Given the description of an element on the screen output the (x, y) to click on. 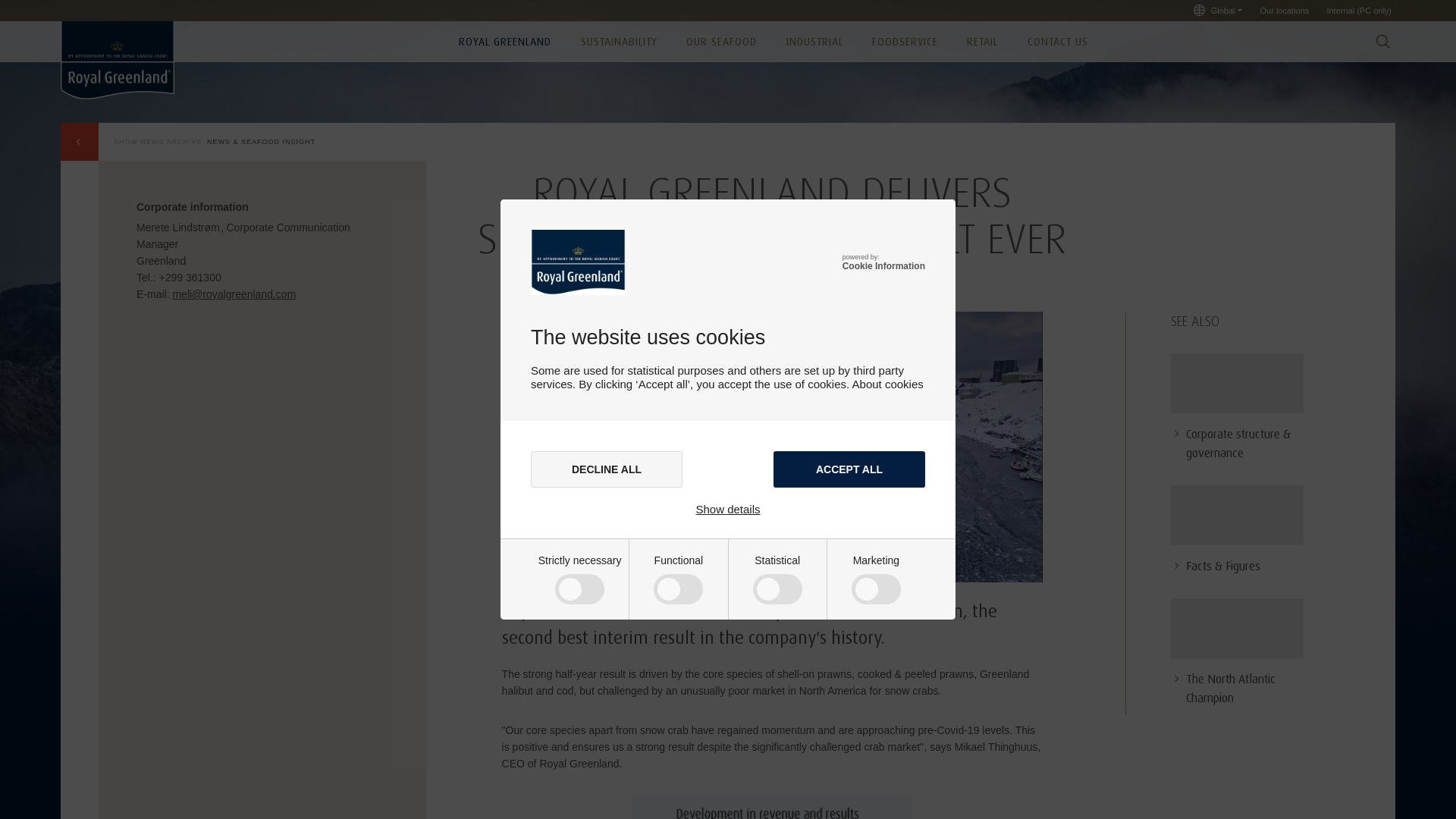
ACCEPT ALL (848, 469)
Cookie Information (883, 266)
About cookies (887, 383)
Show details (727, 508)
DECLINE ALL (606, 469)
